Given the description of an element on the screen output the (x, y) to click on. 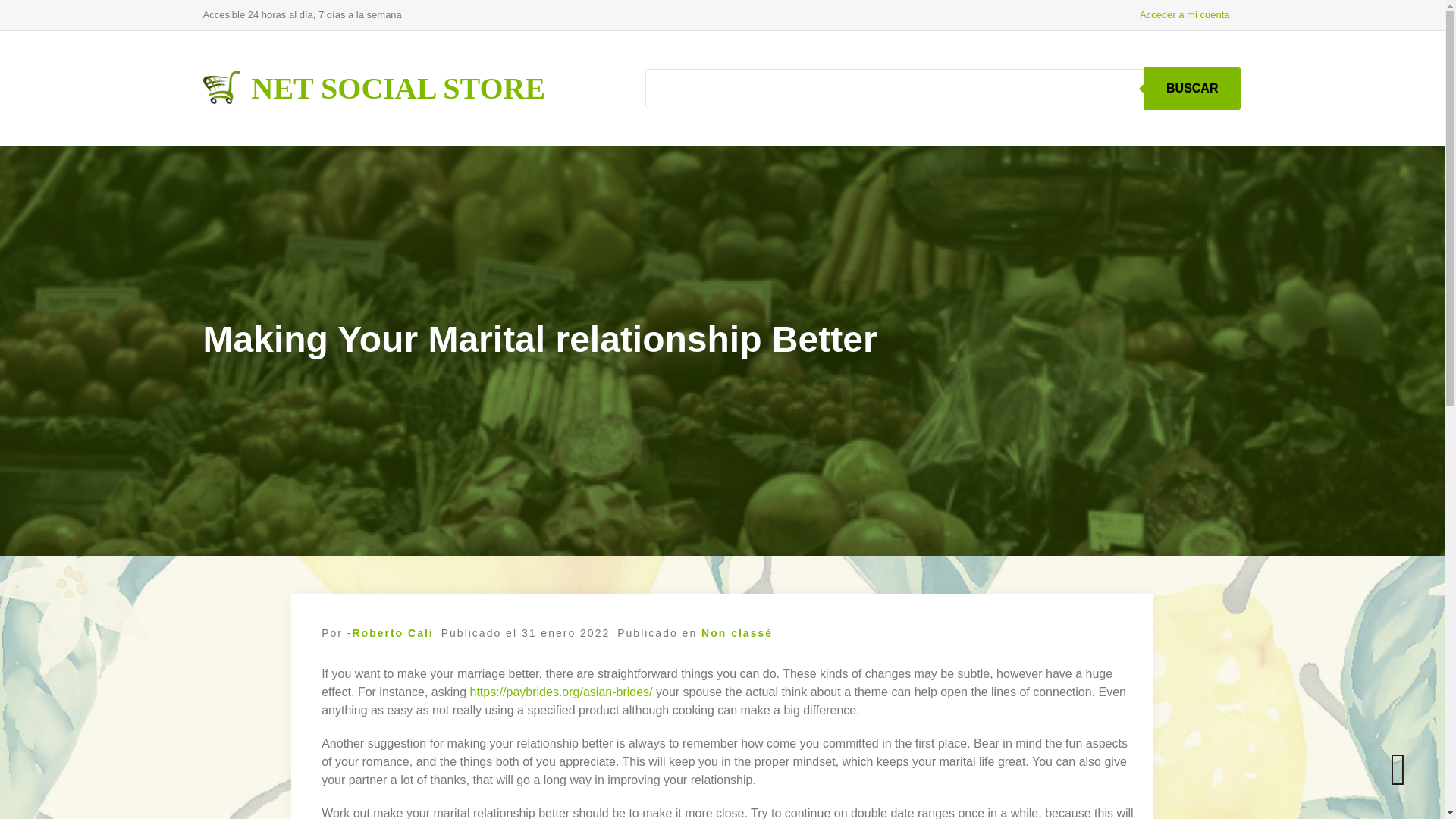
BUSCAR (1191, 88)
Acceder a mi cuenta (1184, 15)
Roberto Cali (392, 633)
NET SOCIAL STORE (398, 88)
